Given the description of an element on the screen output the (x, y) to click on. 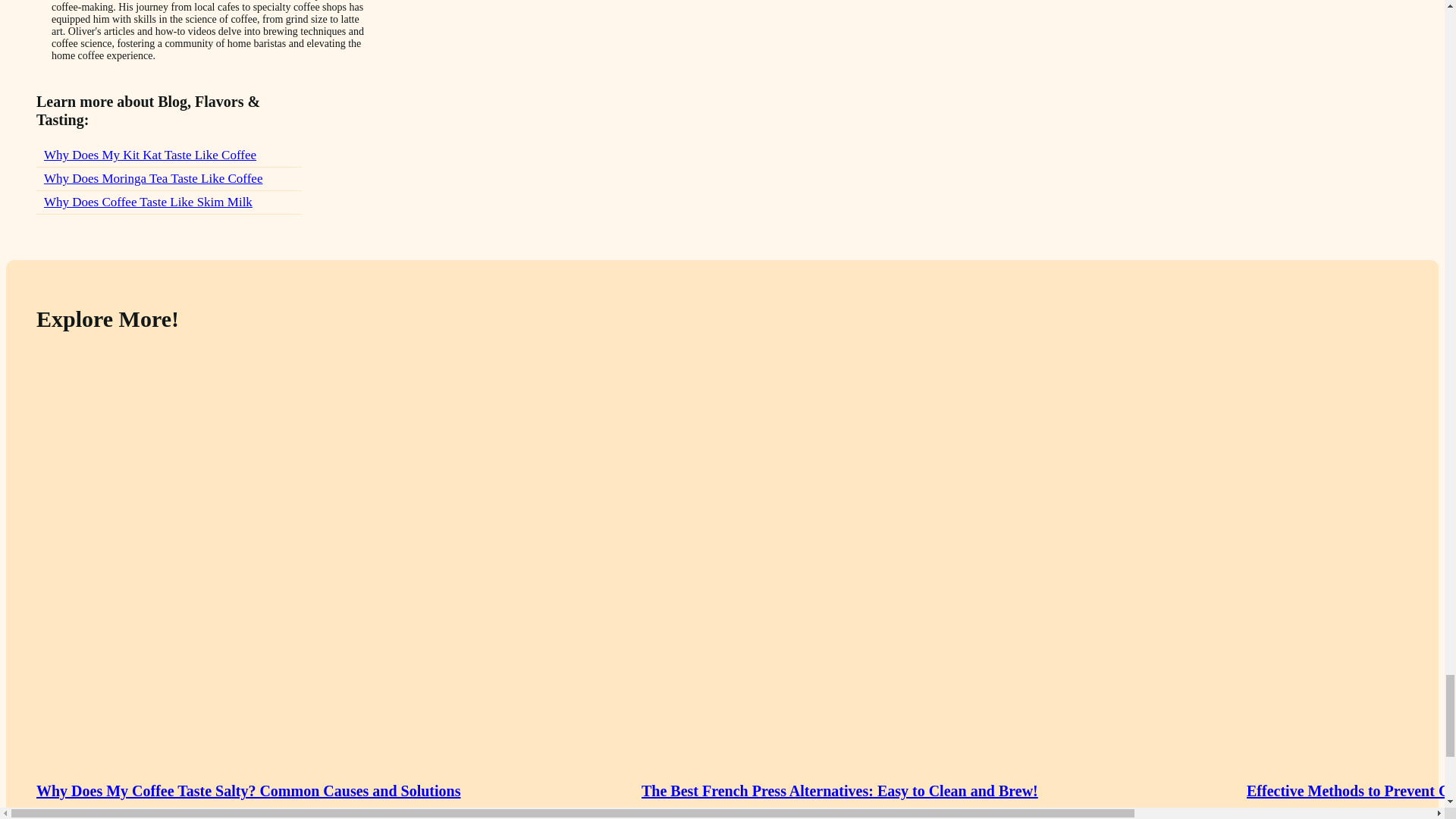
Why Does Coffee Taste Like Skim Milk (168, 202)
Why Does My Kit Kat Taste Like Coffee (168, 155)
Why Does Moringa Tea Taste Like Coffee (168, 178)
